Given the description of an element on the screen output the (x, y) to click on. 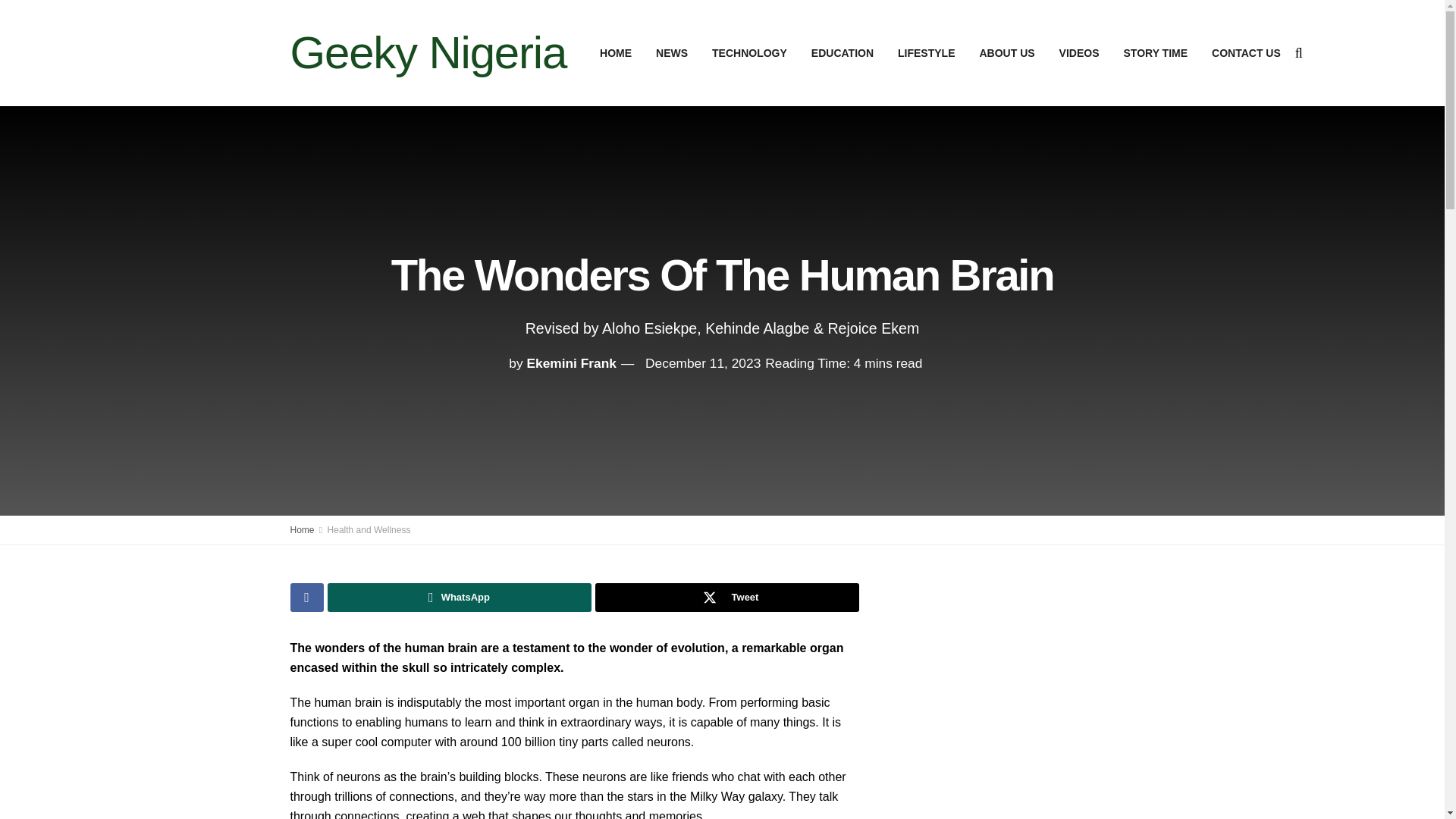
NEWS (671, 53)
WhatsApp (459, 597)
VIDEOS (1079, 53)
Home (301, 529)
TECHNOLOGY (749, 53)
LIFESTYLE (925, 53)
STORY TIME (1155, 53)
Advertisement (1023, 689)
December 11, 2023 (702, 362)
Health and Wellness (368, 529)
